Given the description of an element on the screen output the (x, y) to click on. 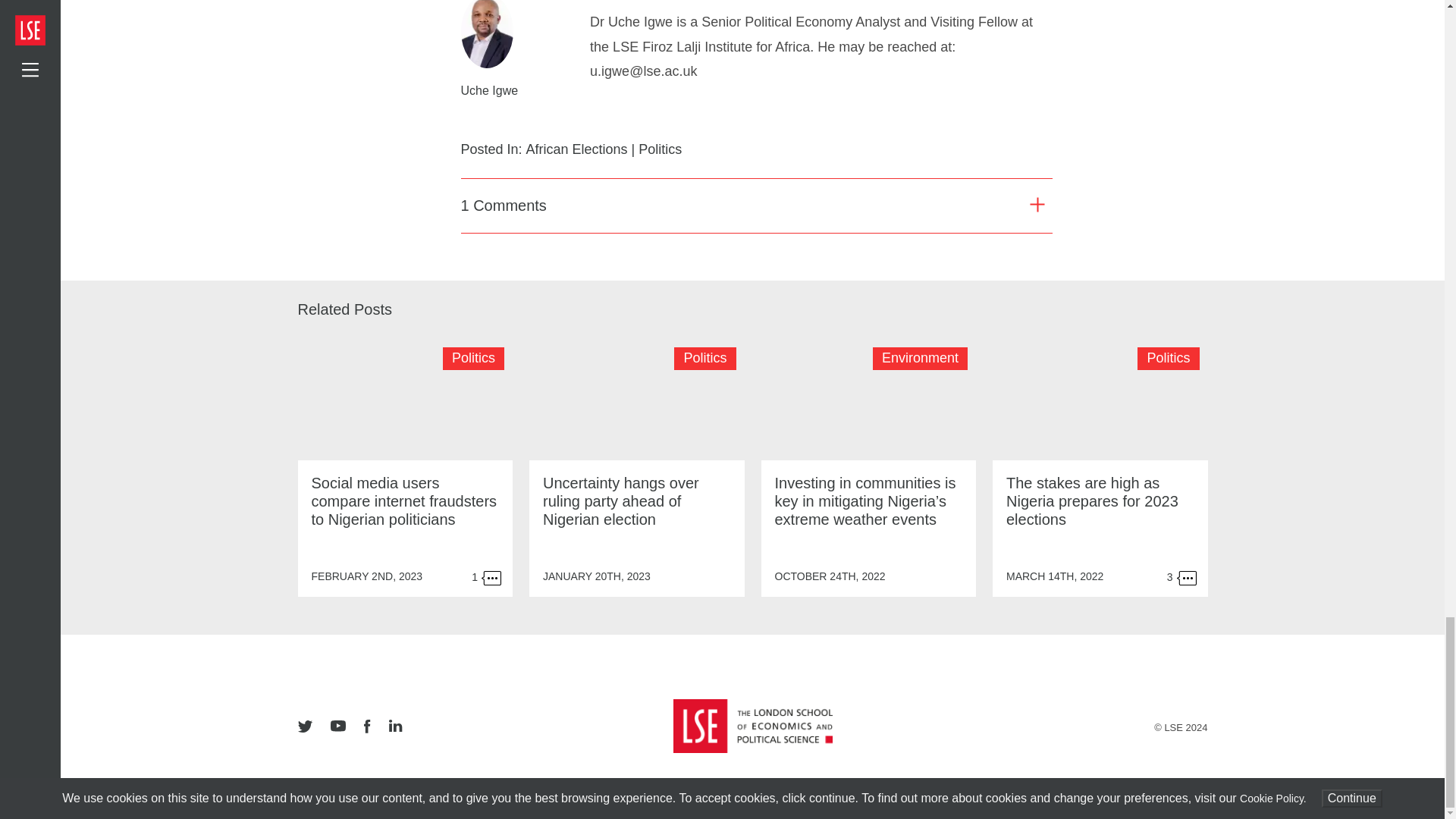
linkedin (394, 726)
youtube (338, 726)
